Given the description of an element on the screen output the (x, y) to click on. 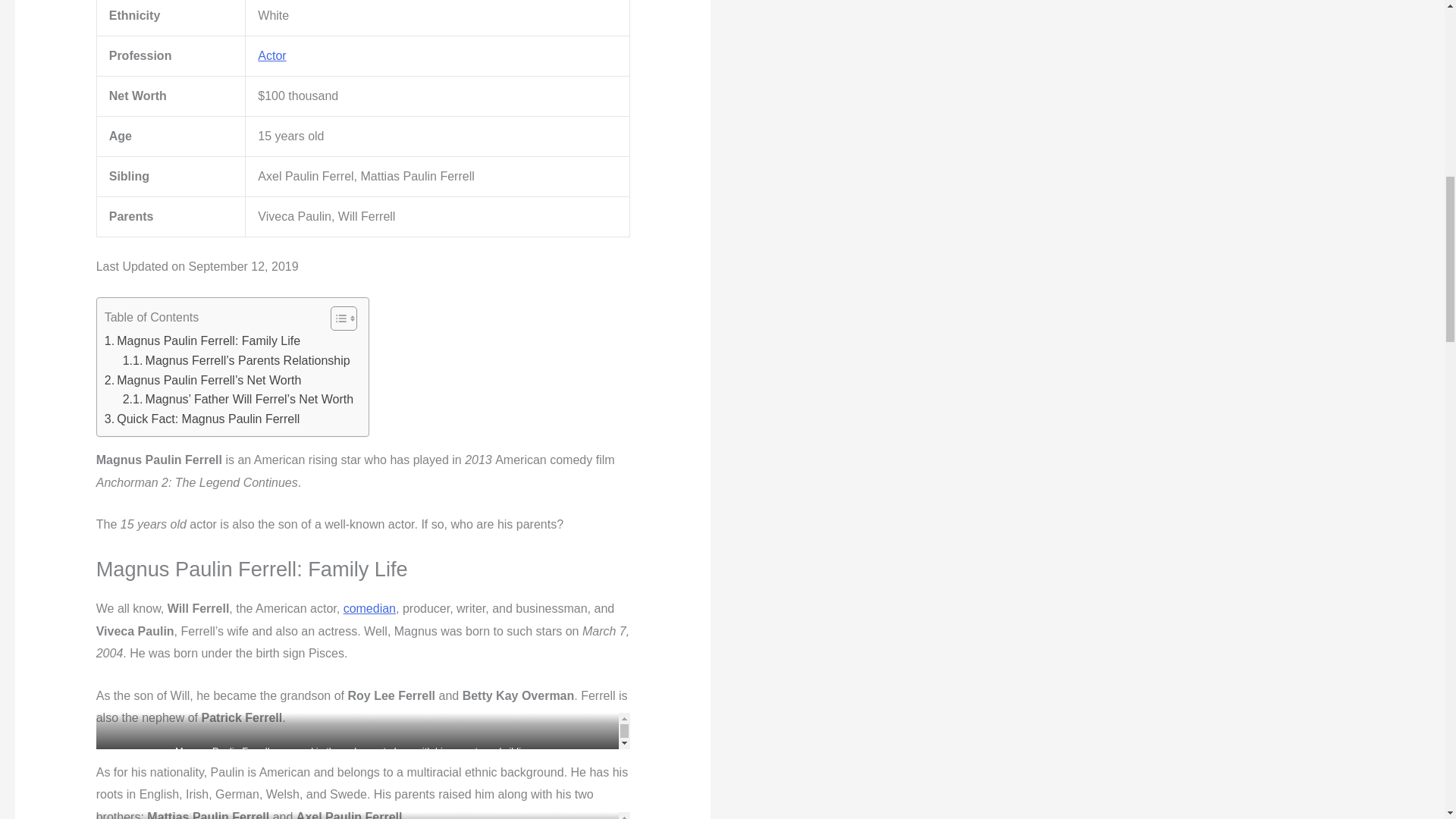
Actor (271, 55)
Quick Fact: Magnus Paulin Ferrell (201, 419)
Actor (271, 55)
Magnus Paulin Ferrell: Family Life (201, 341)
Magnus Paulin Ferrell: Family Life (201, 341)
comedian (369, 608)
Quick Fact: Magnus Paulin Ferrell (201, 419)
comedian (369, 608)
